Given the description of an element on the screen output the (x, y) to click on. 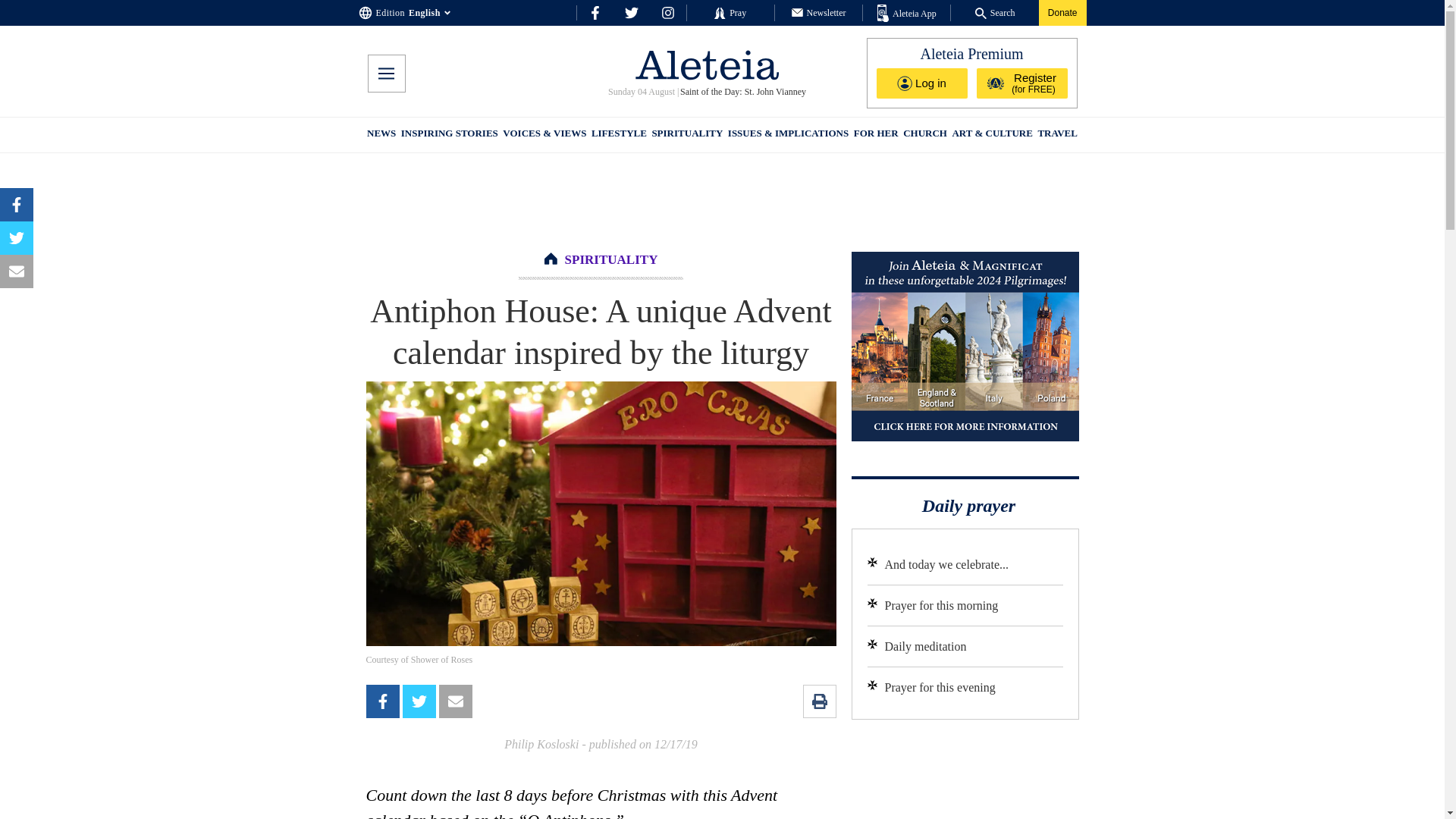
social-ig-top-row (668, 12)
FOR HER (875, 134)
social-tw-top-row (631, 12)
Log in (922, 82)
INSPIRING STORIES (449, 134)
logo-header (706, 64)
CHURCH (924, 134)
Search (994, 12)
mobile-menu-btn (385, 73)
Pray (729, 12)
Aleteia App (906, 13)
Newsletter (818, 12)
social-fb-top-row (595, 12)
Donate (1062, 12)
LIFESTYLE (618, 134)
